Given the description of an element on the screen output the (x, y) to click on. 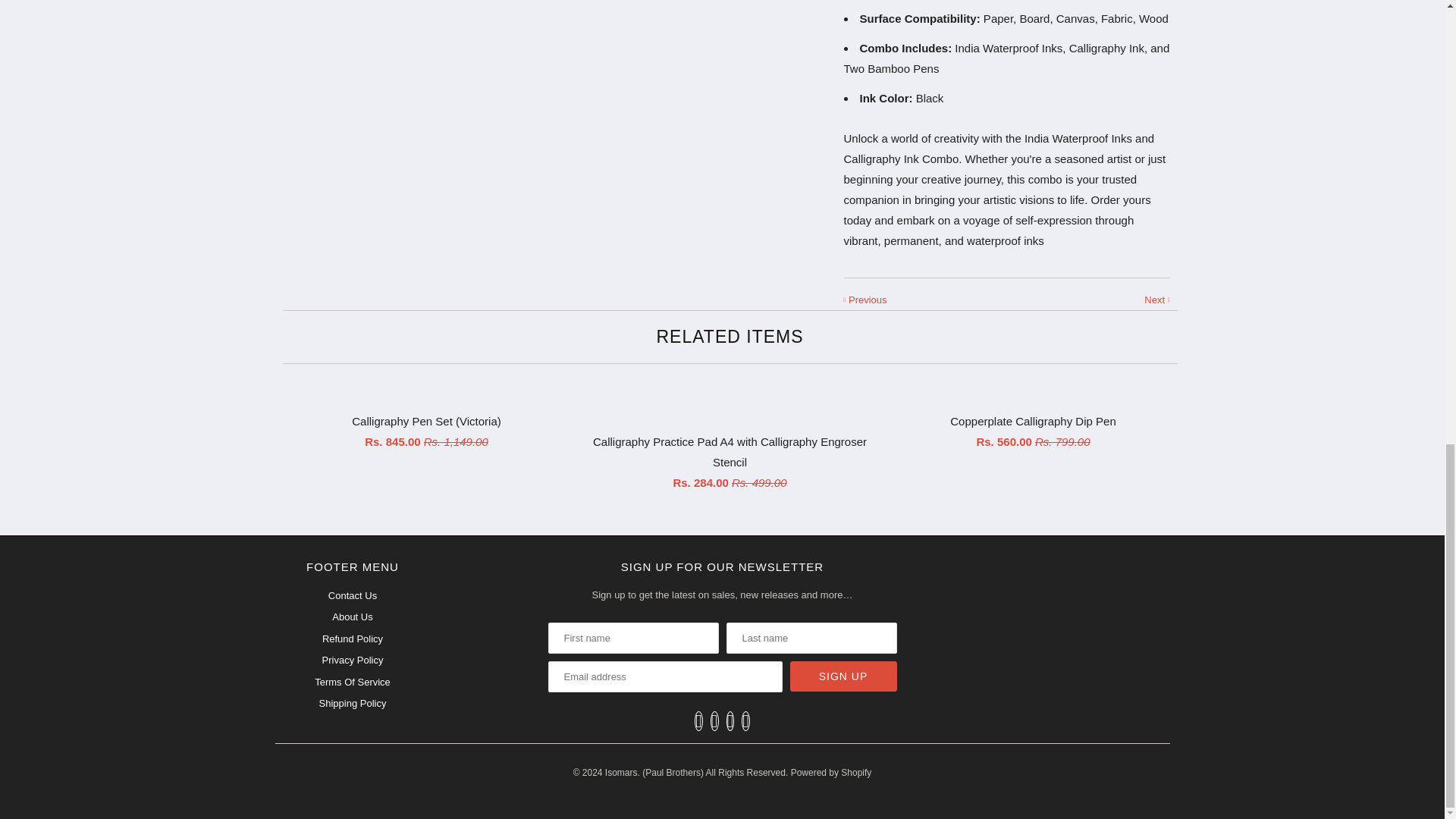
Sign Up (843, 675)
